Given the description of an element on the screen output the (x, y) to click on. 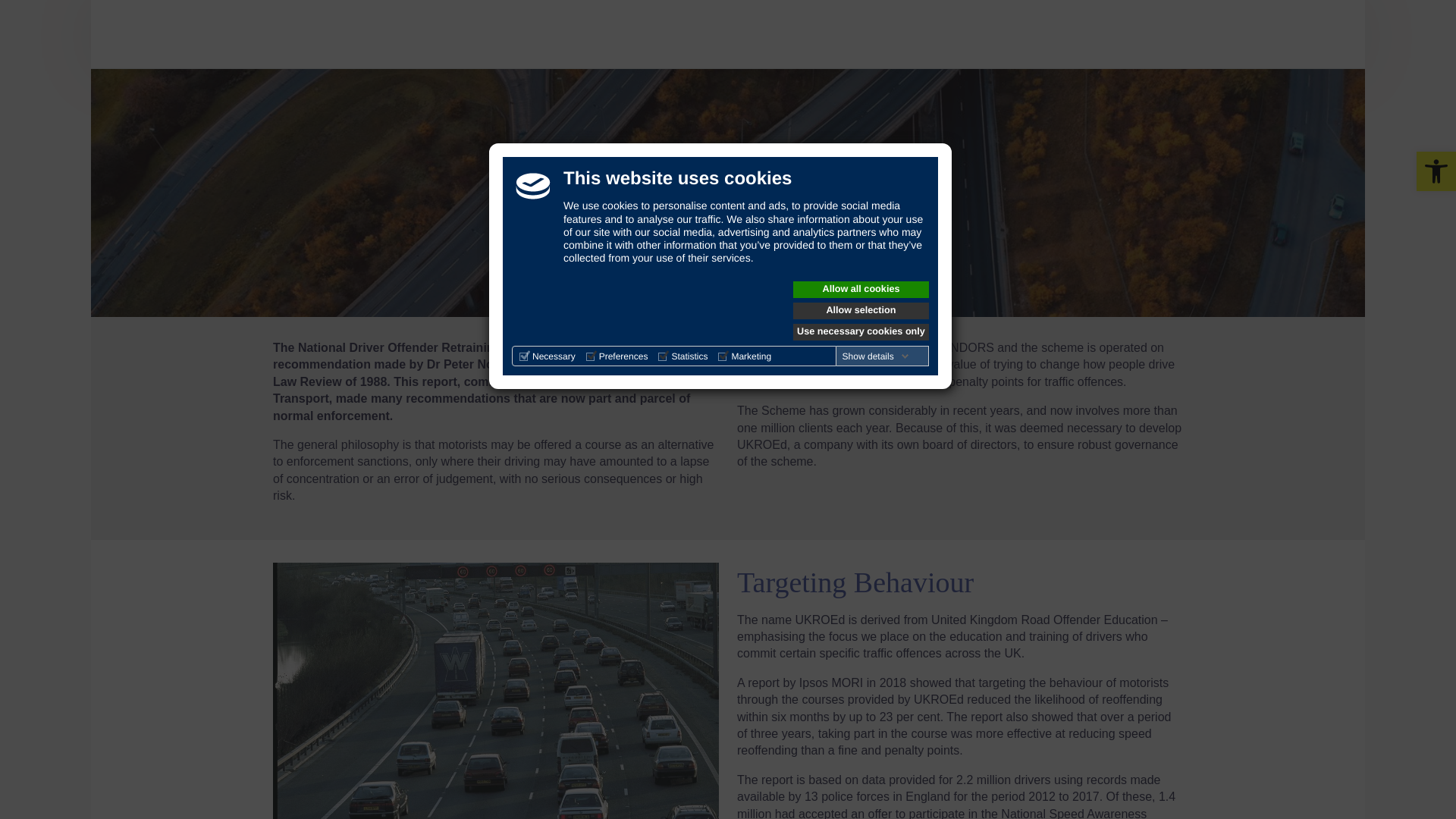
Allow selection (860, 310)
Allow all cookies (860, 289)
Use necessary cookies only (860, 331)
Show details (876, 356)
Accessibility Tools (1435, 170)
